Given the description of an element on the screen output the (x, y) to click on. 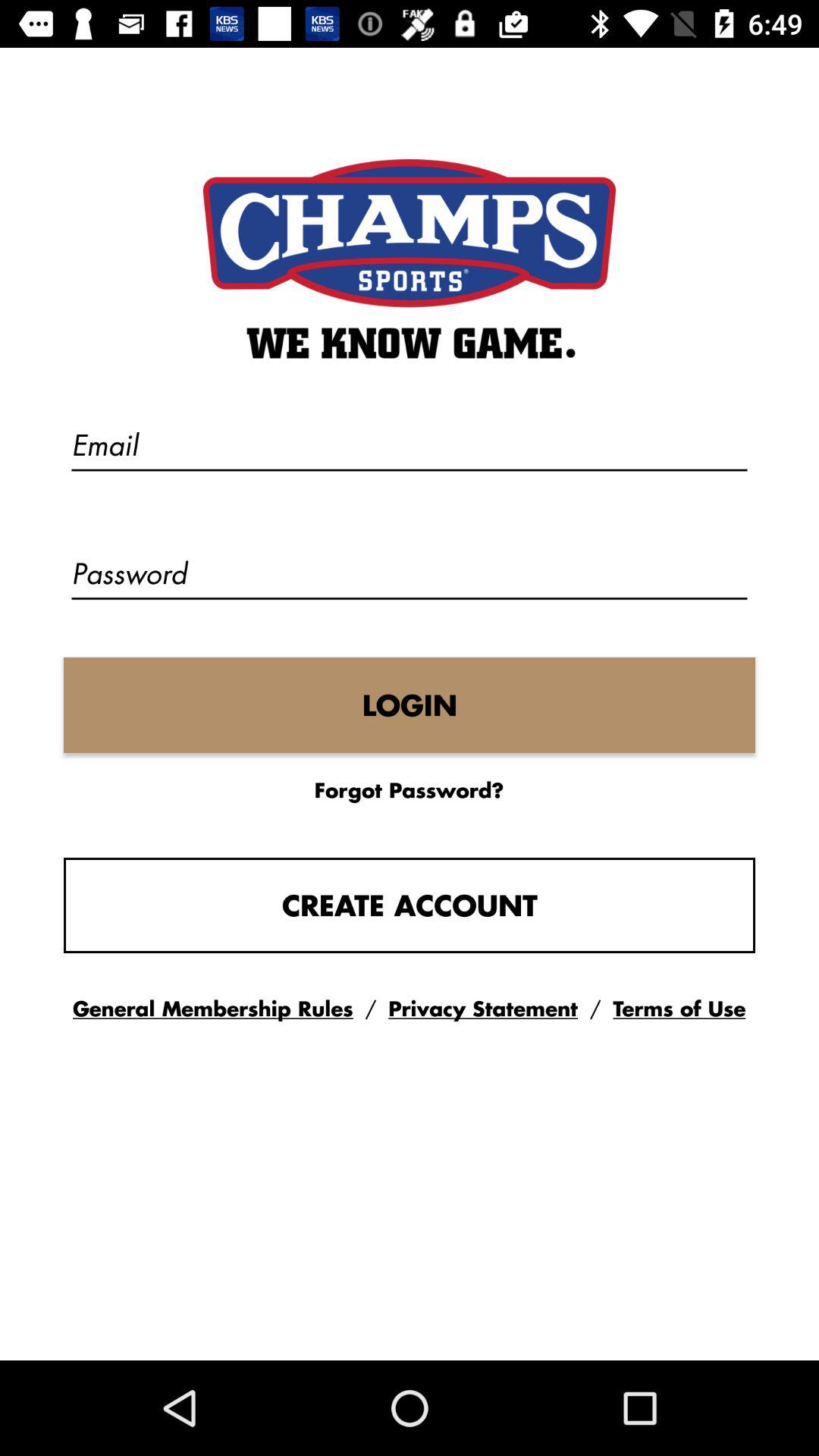
click on the link next to general membership rules (482, 1008)
select terms of use in the bottom right of the web page (679, 1008)
select the text field password on the web page (409, 576)
the text general membership rules below create account (212, 1008)
click on login button (409, 705)
select create account (409, 905)
click on forgot password (408, 789)
click on text field which says email (409, 448)
click the button terms of use on the web page (679, 1008)
click on the text field above password (409, 448)
click the button create account on the web page (409, 905)
